Given the description of an element on the screen output the (x, y) to click on. 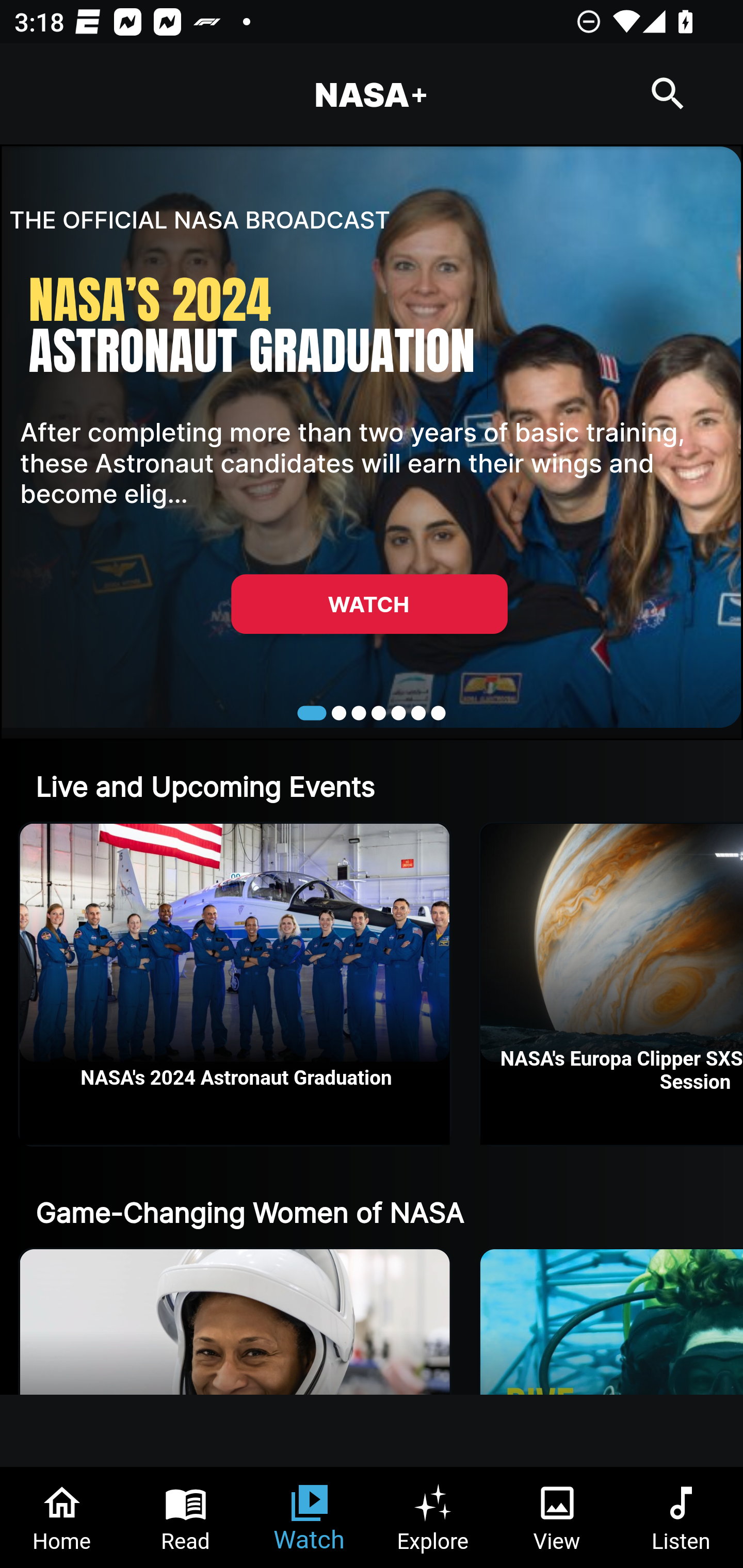
WATCH (369, 603)
NASA's 2024 Astronaut Graduation (235, 983)
NASA's Europa Clipper SXSW 2024 Opening Session (611, 983)
Home
Tab 1 of 6 (62, 1517)
Read
Tab 2 of 6 (185, 1517)
Watch
Tab 3 of 6 (309, 1517)
Explore
Tab 4 of 6 (433, 1517)
View
Tab 5 of 6 (556, 1517)
Listen
Tab 6 of 6 (680, 1517)
